Given the description of an element on the screen output the (x, y) to click on. 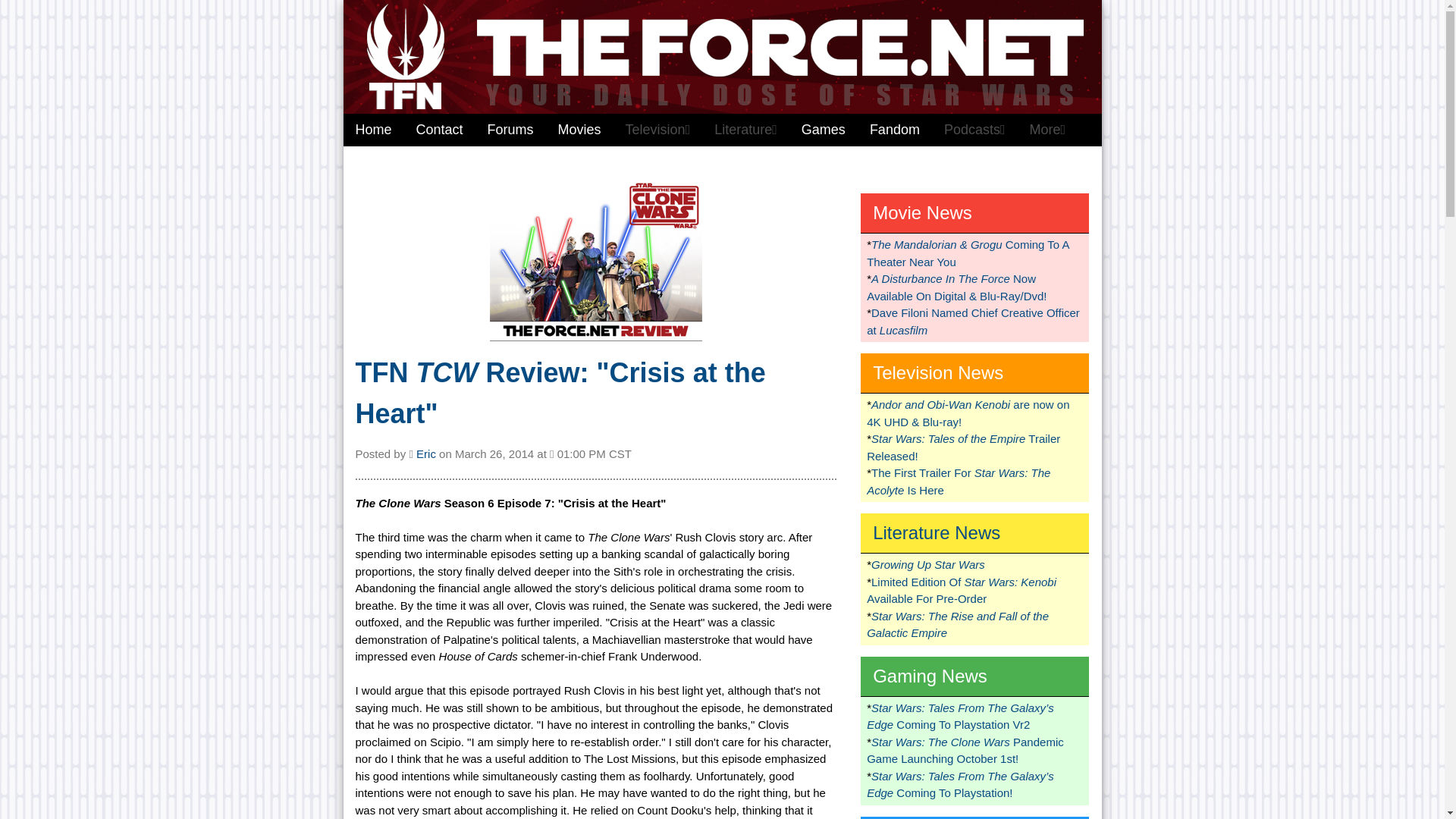
Contact (440, 129)
Movies (579, 129)
Home (372, 129)
Forums (511, 129)
Television (657, 129)
